Given the description of an element on the screen output the (x, y) to click on. 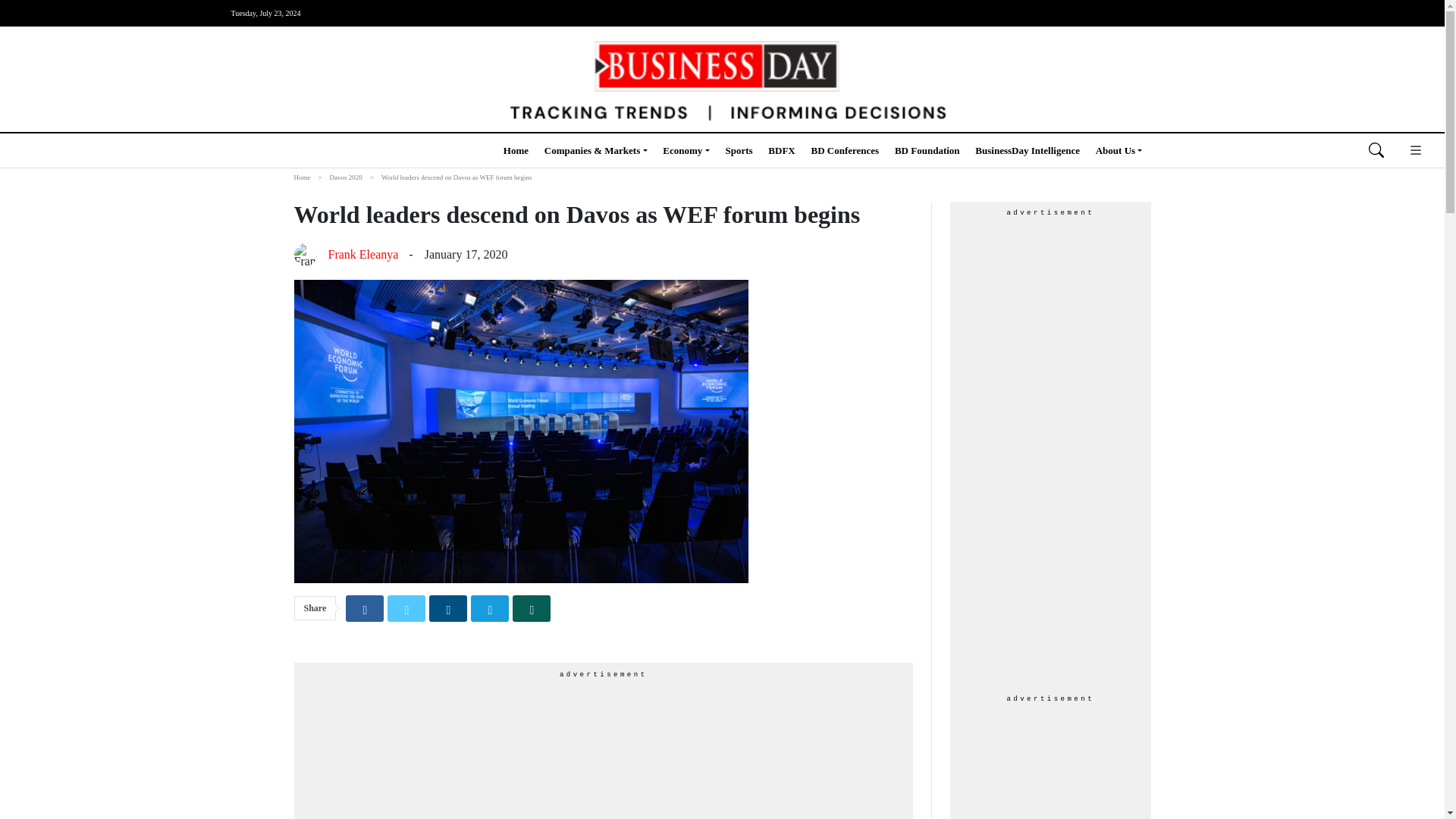
About Us (1119, 149)
BD Foundation (927, 149)
Economy (685, 149)
About Us (1119, 149)
BusinessDay Intelligence (1027, 149)
BD Foundation (927, 149)
BD Conferences (844, 149)
Economy (685, 149)
BusinessDay Intelligence (1027, 149)
BD Conferences (844, 149)
